Given the description of an element on the screen output the (x, y) to click on. 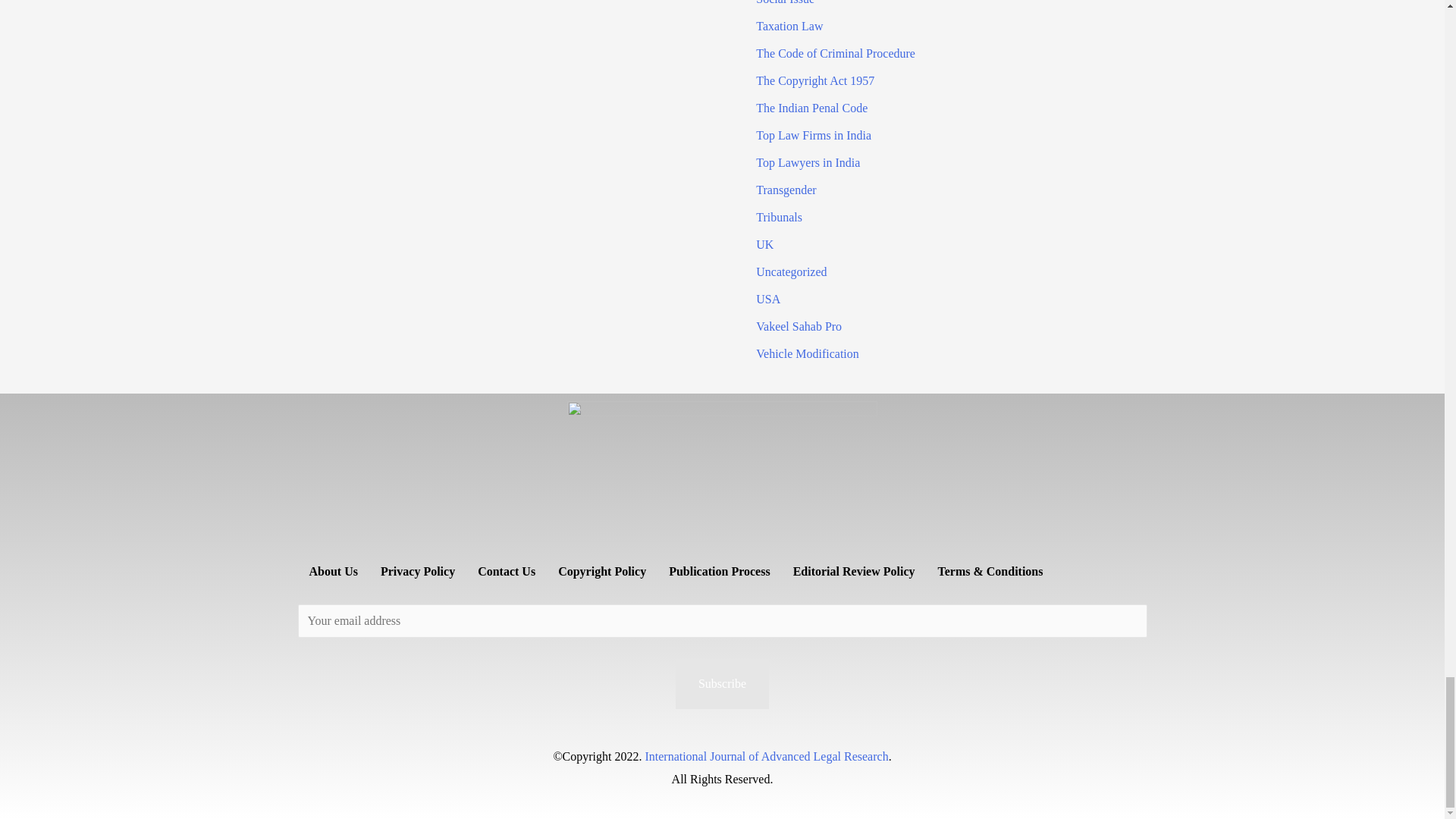
Subscribe (721, 684)
